Given the description of an element on the screen output the (x, y) to click on. 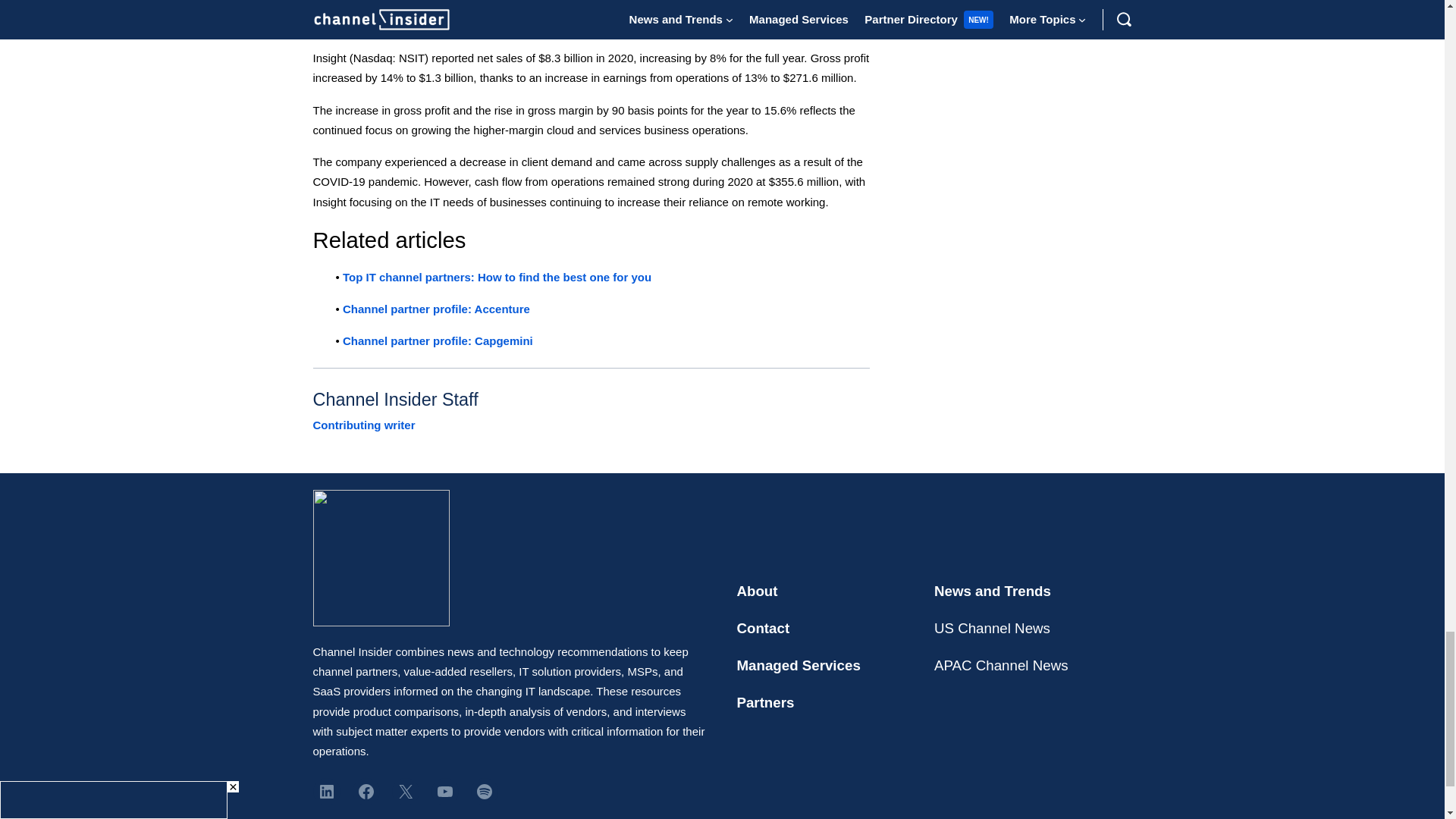
Channel partner profile: Accenture (435, 308)
Top IT channel partners: How to find the best one for you (496, 277)
Top IT channel partner profile: Capgemini (437, 340)
Top IT channel partner profile: Accenture (435, 308)
